Given the description of an element on the screen output the (x, y) to click on. 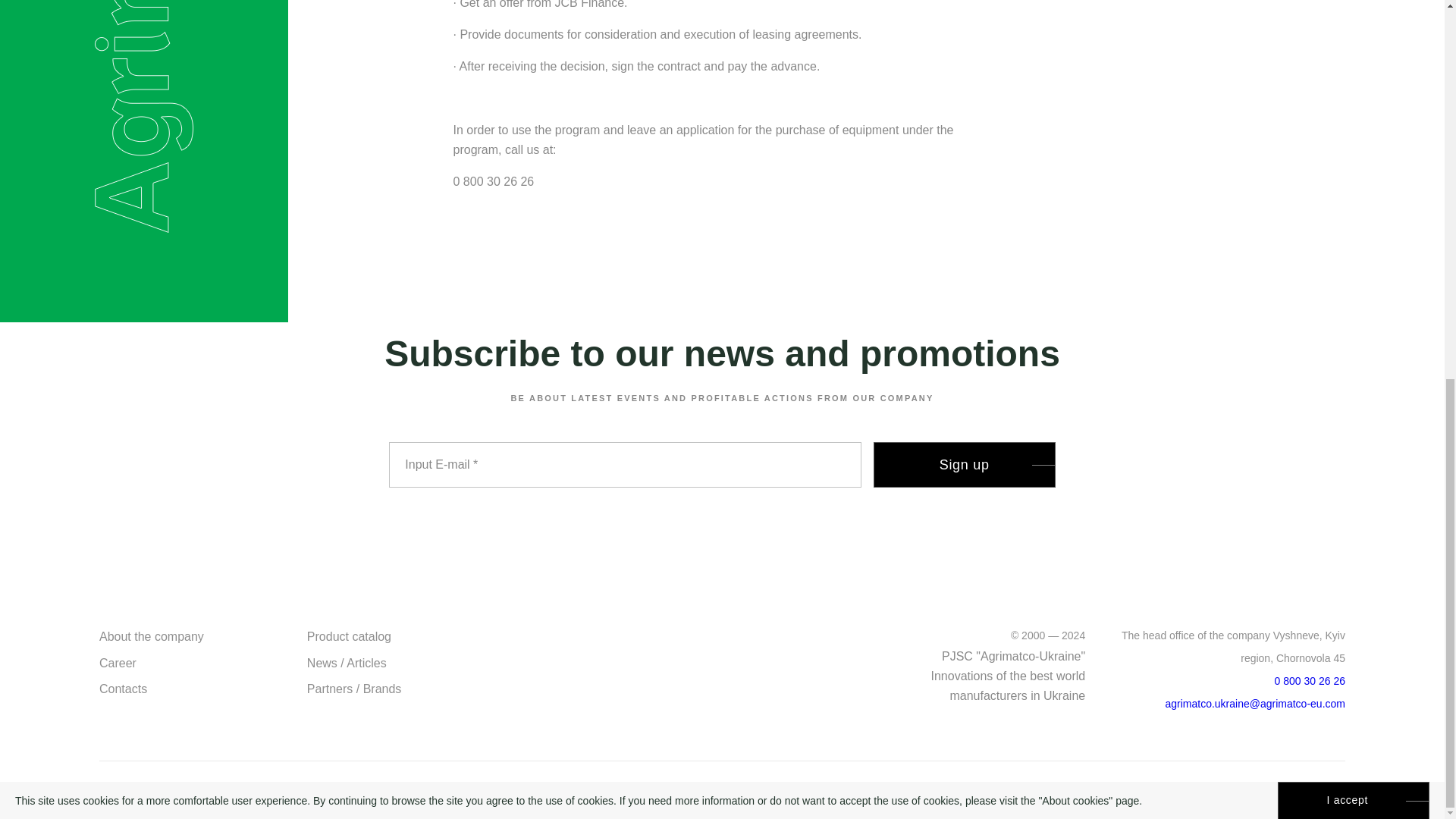
Sign up (964, 464)
Career (117, 662)
0 800 30 26 26 (1310, 680)
Contacts (123, 688)
About the company (151, 635)
Product catalog (349, 635)
